Given the description of an element on the screen output the (x, y) to click on. 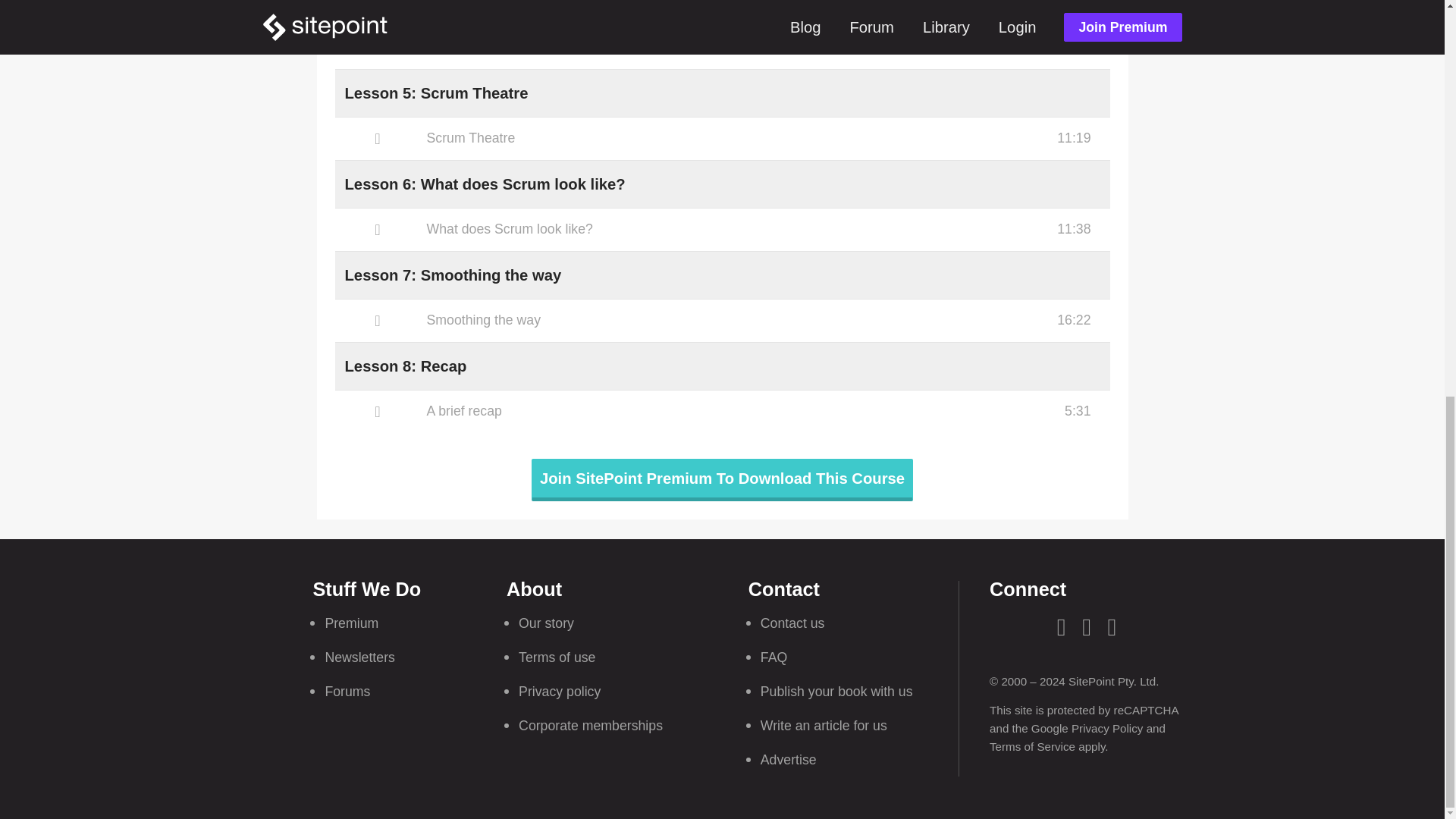
FAQ (773, 657)
Premium (351, 622)
Join SitePoint Premium To Download This Course (721, 480)
Terms of use (556, 657)
Contact us (792, 622)
Smoothing the way (721, 320)
Lesson 8: Recap (404, 365)
Corporate memberships (590, 725)
Publish your book with us (836, 691)
Lesson 7: Smoothing the way (451, 274)
